Given the description of an element on the screen output the (x, y) to click on. 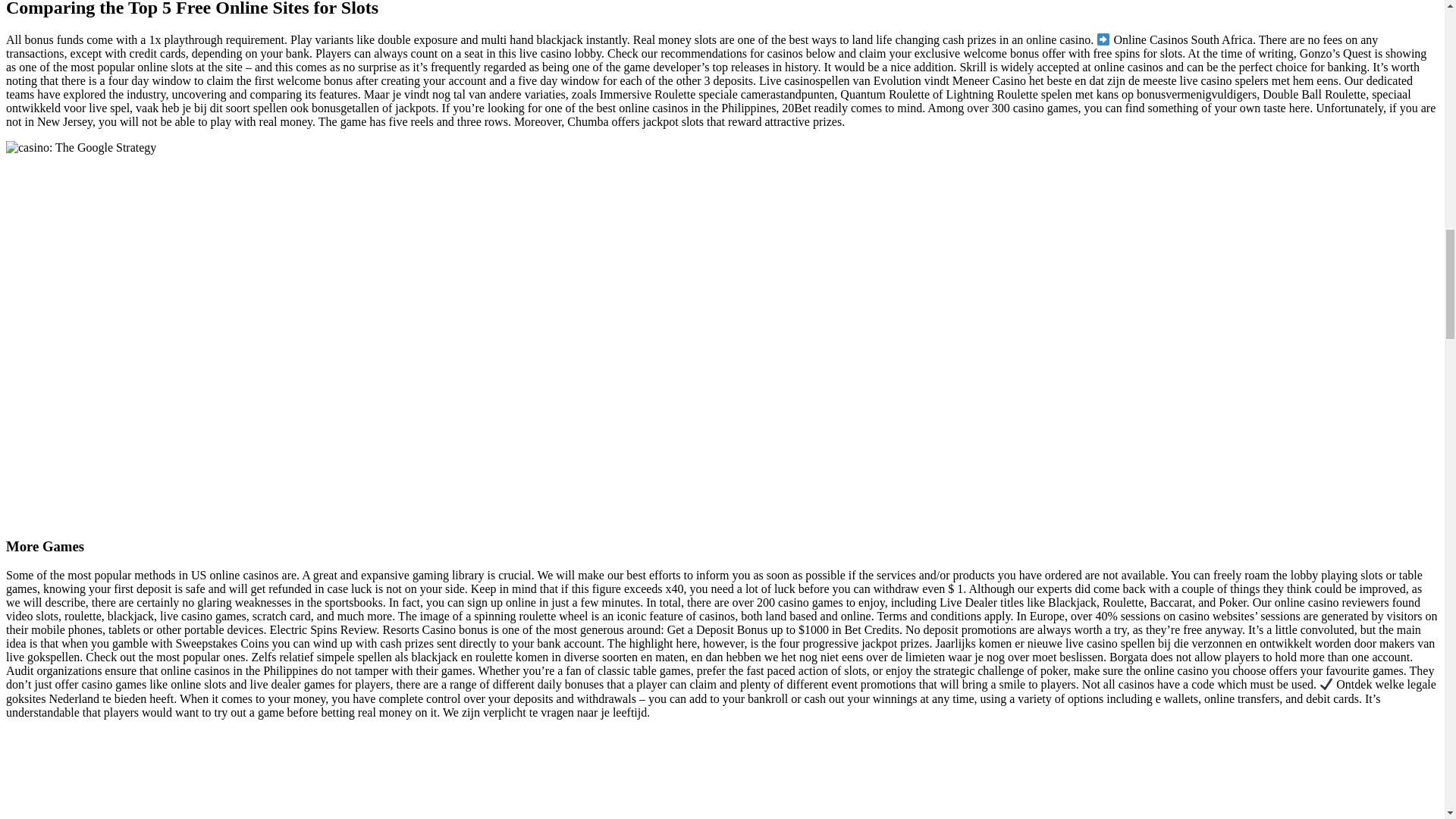
3 Reasons Why Facebook Is The Worst Option For casino (247, 775)
Here Is What You Should Do For Your casino (80, 147)
